Given the description of an element on the screen output the (x, y) to click on. 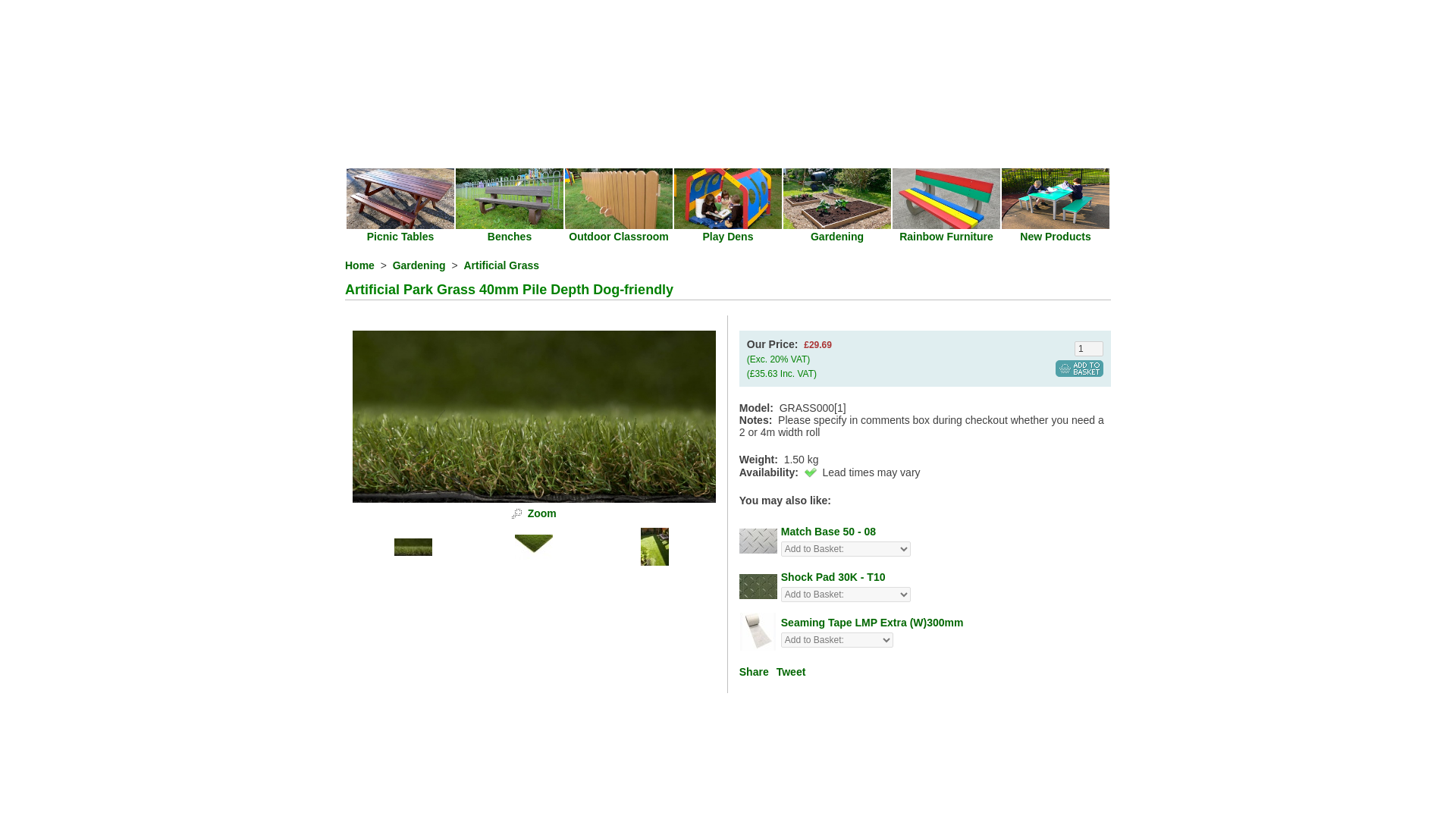
Rainbow Furniture (945, 236)
Lead times may vary (810, 472)
Artificial Park Grass  40mm Pile Depth  Dog-friendly (534, 499)
Gardening (836, 236)
Gardening (419, 265)
Artificial Park Grass  40mm Pile Depth  Dog-friendly (541, 512)
Match Base 50 - 08 (828, 530)
Zoom (534, 416)
Outdoor Classroom (618, 236)
1 (1088, 348)
